Given the description of an element on the screen output the (x, y) to click on. 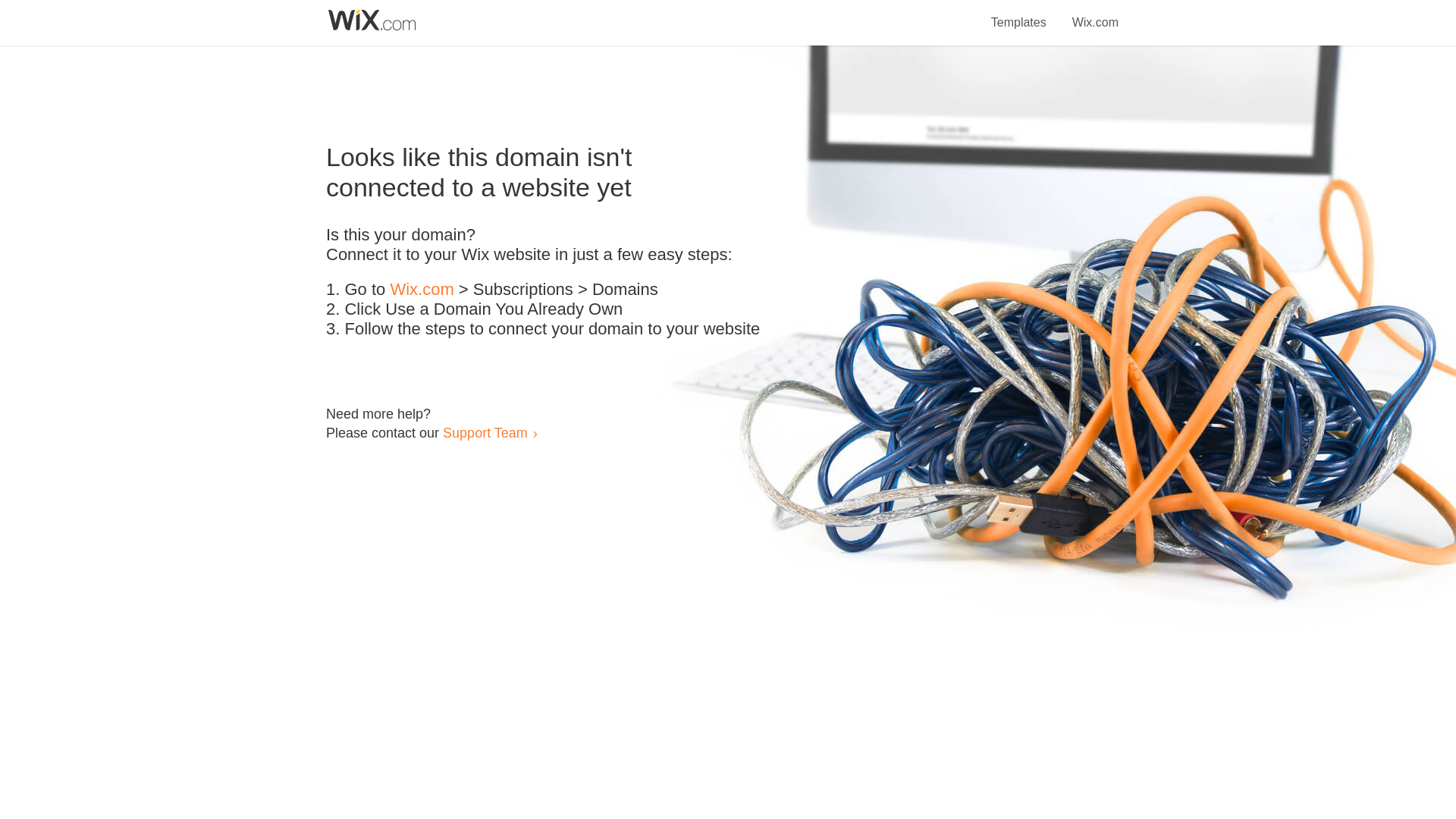
Templates (1018, 14)
Wix.com (421, 289)
Support Team (484, 432)
Wix.com (1095, 14)
